Given the description of an element on the screen output the (x, y) to click on. 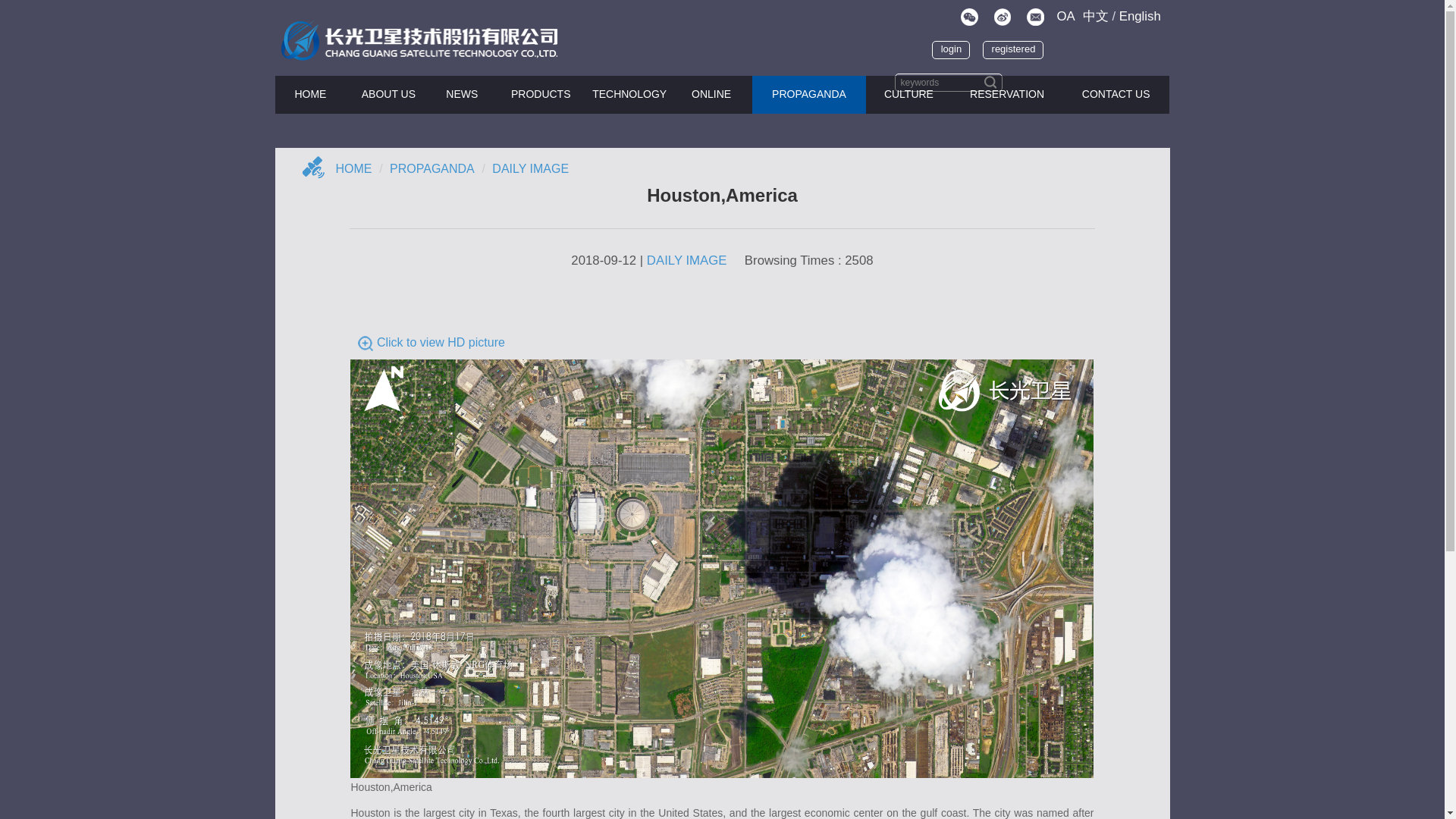
NEWS (461, 94)
registered (1008, 44)
TECHNOLOGY (628, 94)
login (927, 42)
PROPAGANDA (809, 94)
HOME (310, 94)
keywords (949, 82)
ONLINE (710, 94)
ABOUT US (388, 94)
English (1139, 7)
OA (1065, 6)
PRODUCTS (540, 94)
